Given the description of an element on the screen output the (x, y) to click on. 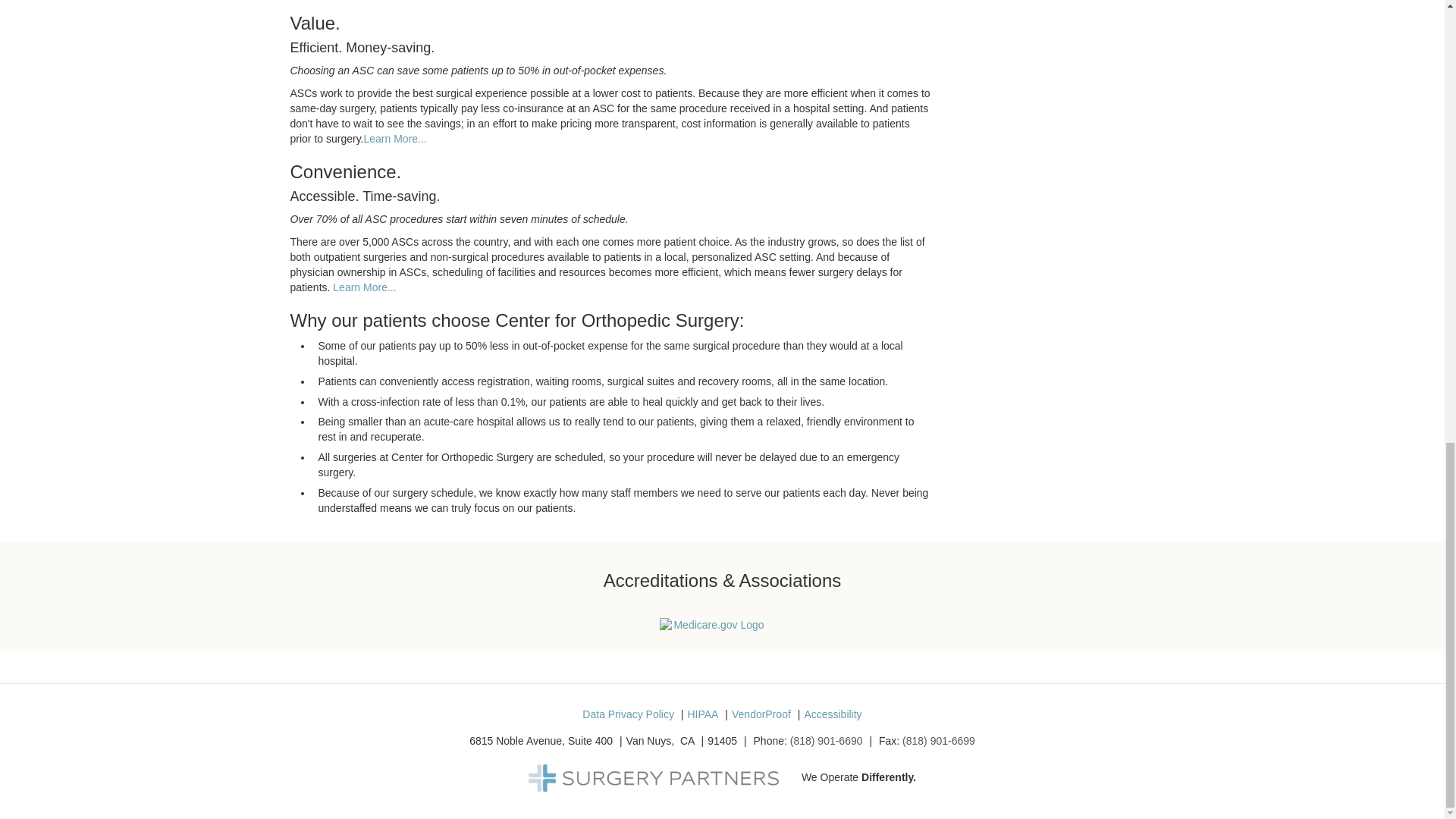
Learn More... (364, 287)
Data Privacy Policy (628, 714)
VendorProof (761, 714)
Learn More... (395, 138)
HIPAA (702, 714)
Accessibility (832, 714)
